Given the description of an element on the screen output the (x, y) to click on. 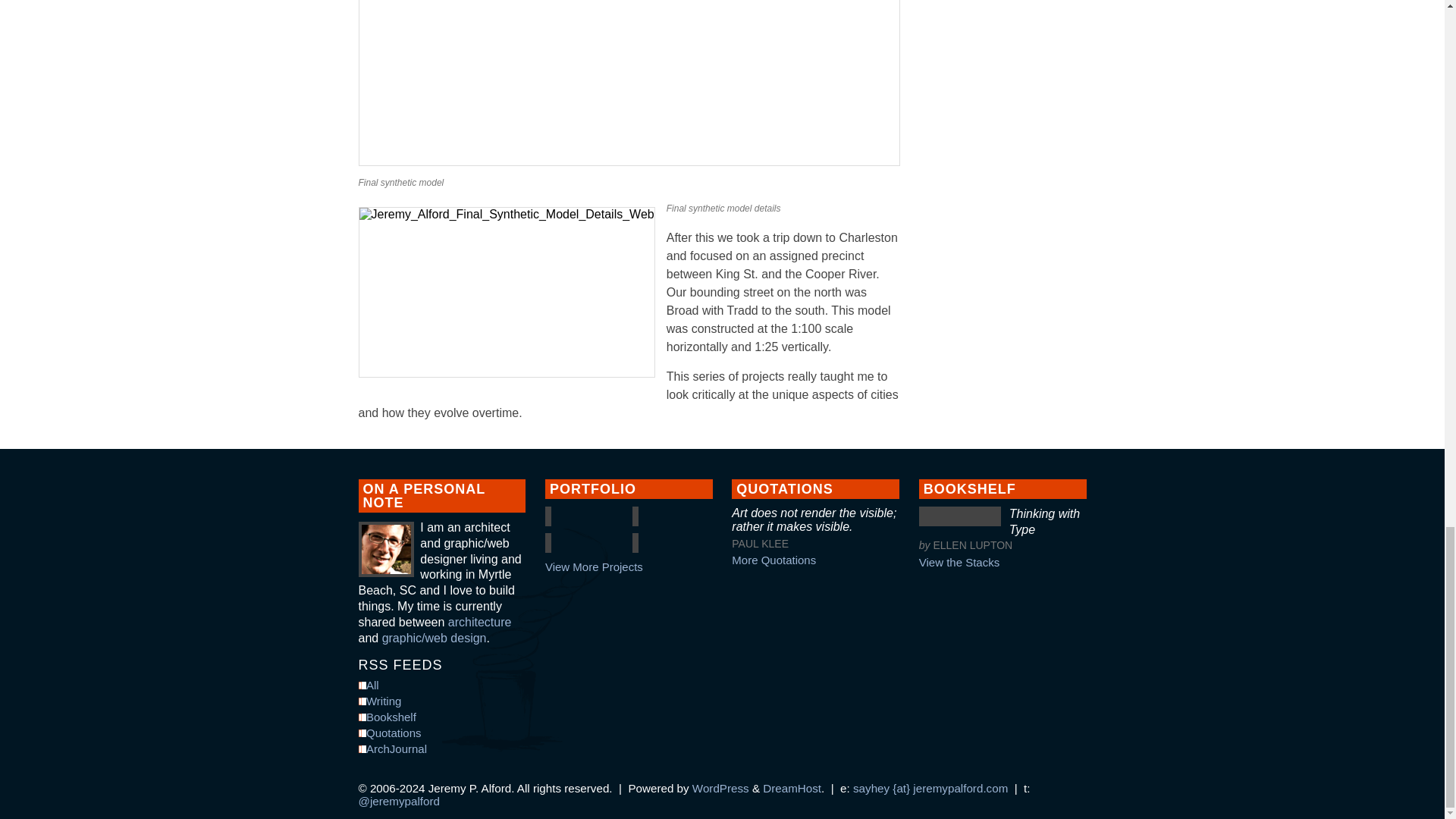
Bookshelf (441, 716)
Writing (441, 700)
More Quotations (815, 559)
Quotations (441, 732)
View More Projects (628, 566)
All (441, 684)
ArchJournal (441, 748)
architecture (480, 621)
